Given the description of an element on the screen output the (x, y) to click on. 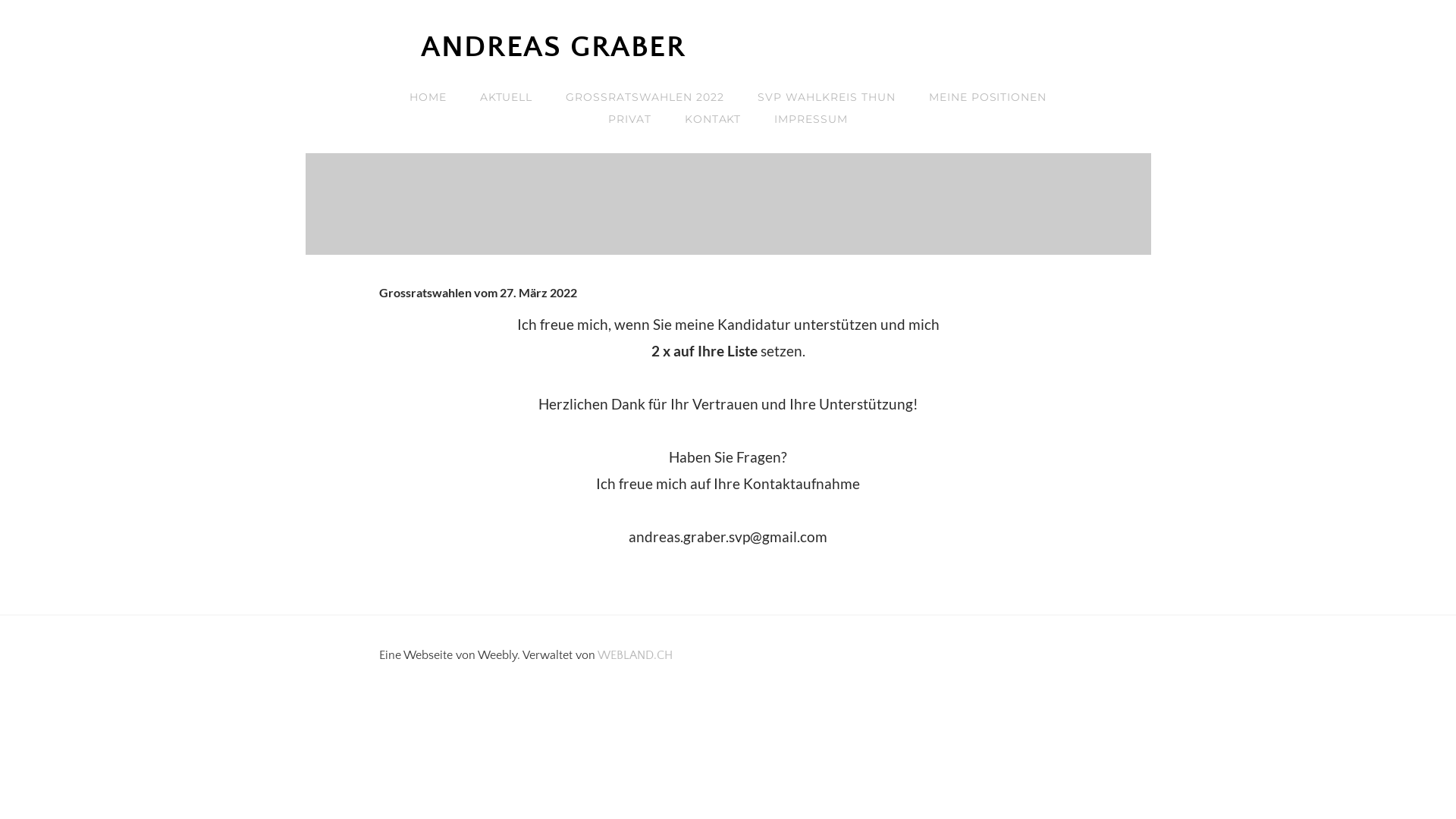
GROSSRATSWAHLEN 2022 Element type: text (644, 97)
MEINE POSITIONEN Element type: text (987, 97)
HOME Element type: text (428, 97)
PRIVAT Element type: text (629, 119)
ANDREAS GRABER Element type: text (728, 46)
IMPRESSUM Element type: text (810, 119)
AKTUELL Element type: text (506, 97)
WEBLAND.CH Element type: text (634, 655)
KONTAKT Element type: text (713, 119)
SVP WAHLKREIS THUN Element type: text (826, 97)
